Given the description of an element on the screen output the (x, y) to click on. 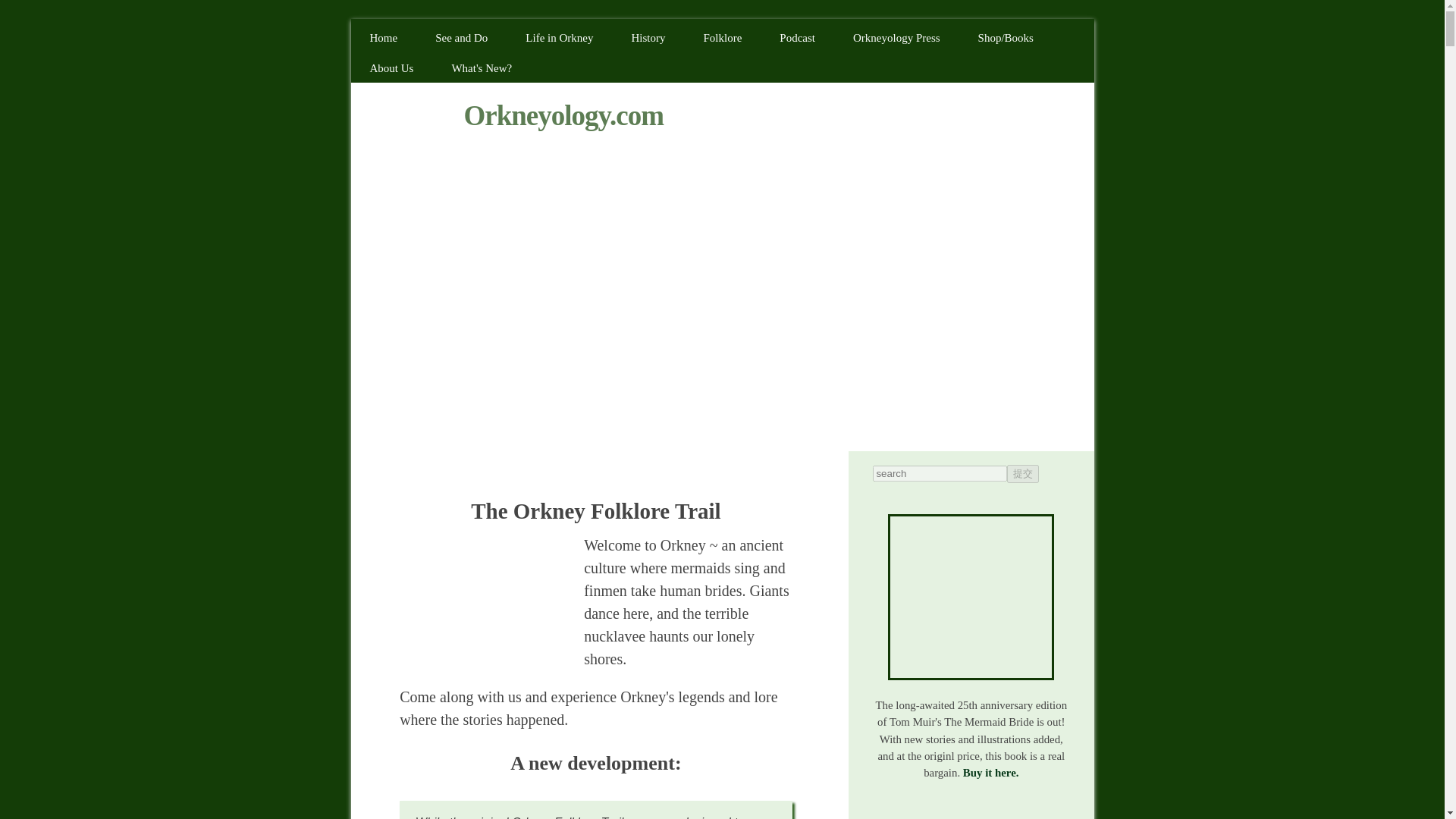
Orkneyology Press (896, 37)
Podcast (797, 37)
Home (383, 37)
What's New? (481, 68)
Rhonda's thoughts (485, 597)
Orkneyology.com (563, 115)
